Given the description of an element on the screen output the (x, y) to click on. 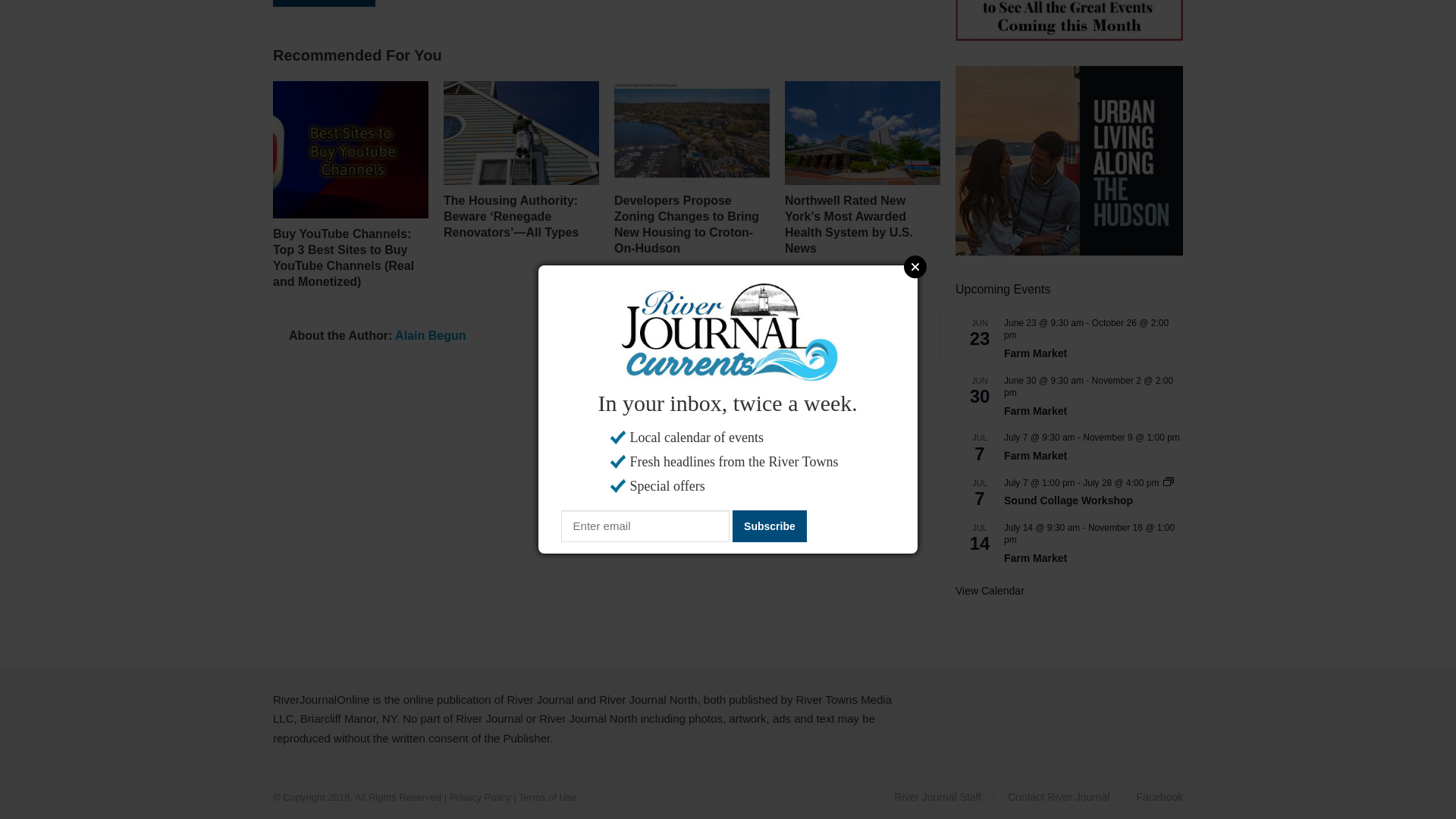
Event Series (1168, 482)
Event Series (1168, 481)
